Given the description of an element on the screen output the (x, y) to click on. 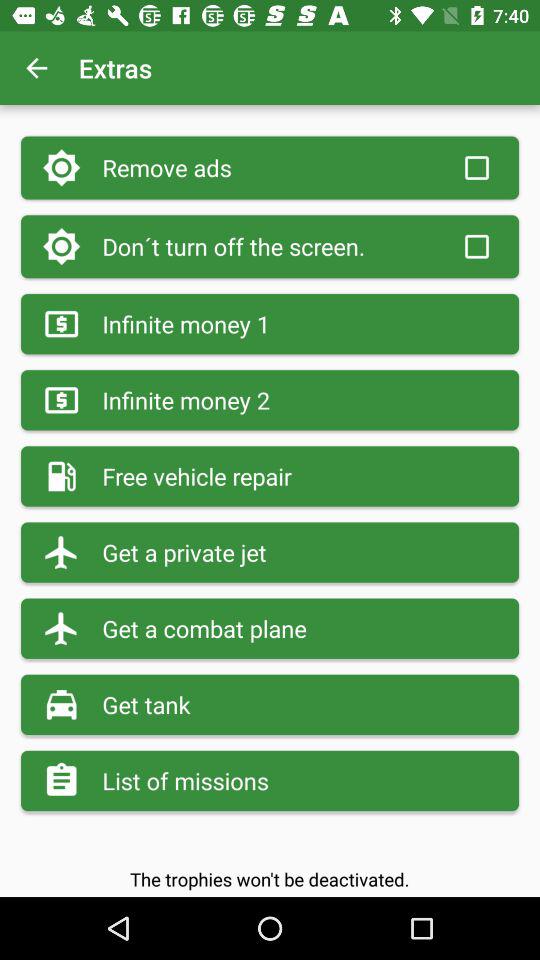
click the icon next to the extras item (36, 68)
